Given the description of an element on the screen output the (x, y) to click on. 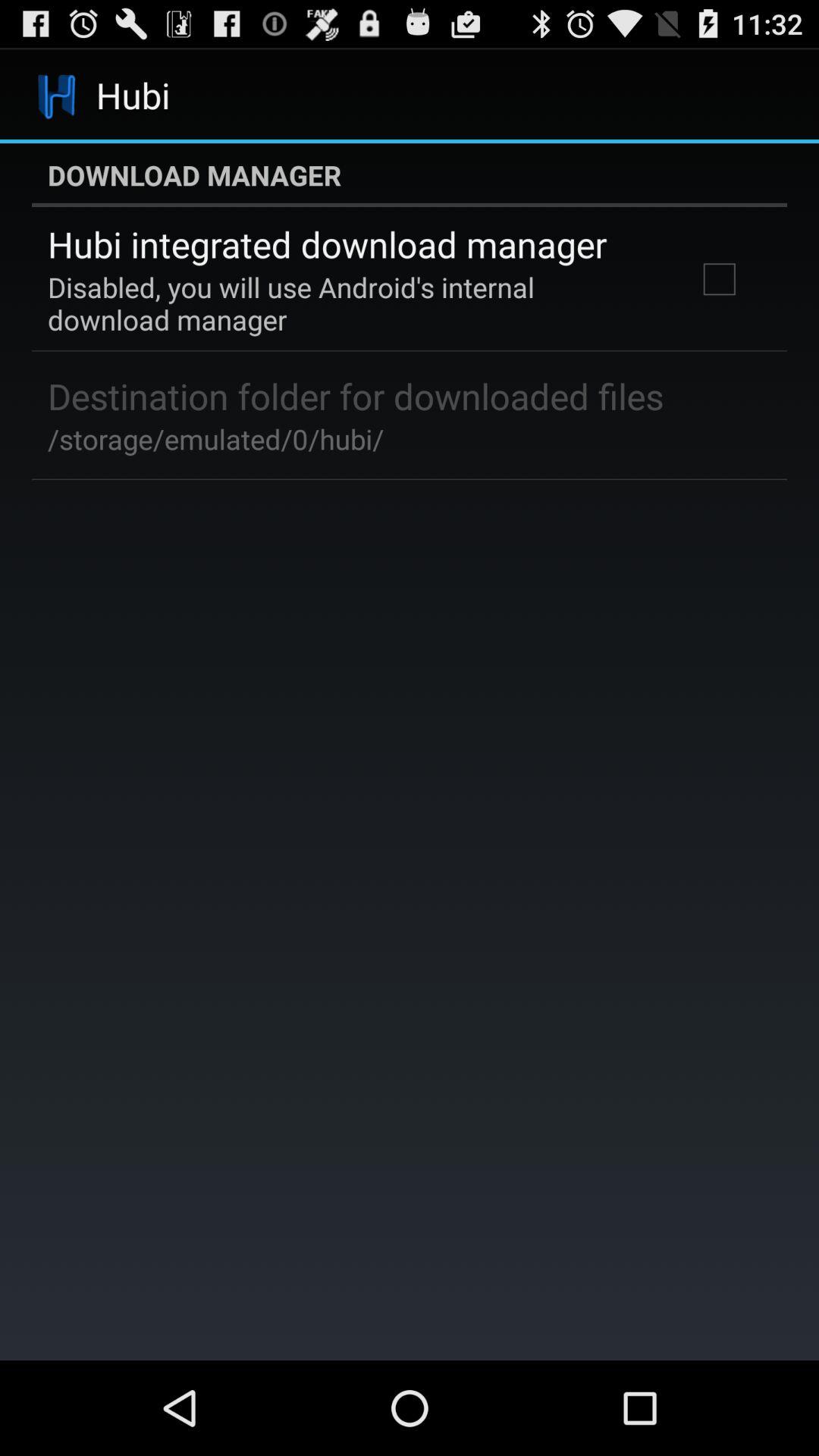
turn off icon below hubi integrated download (351, 303)
